Given the description of an element on the screen output the (x, y) to click on. 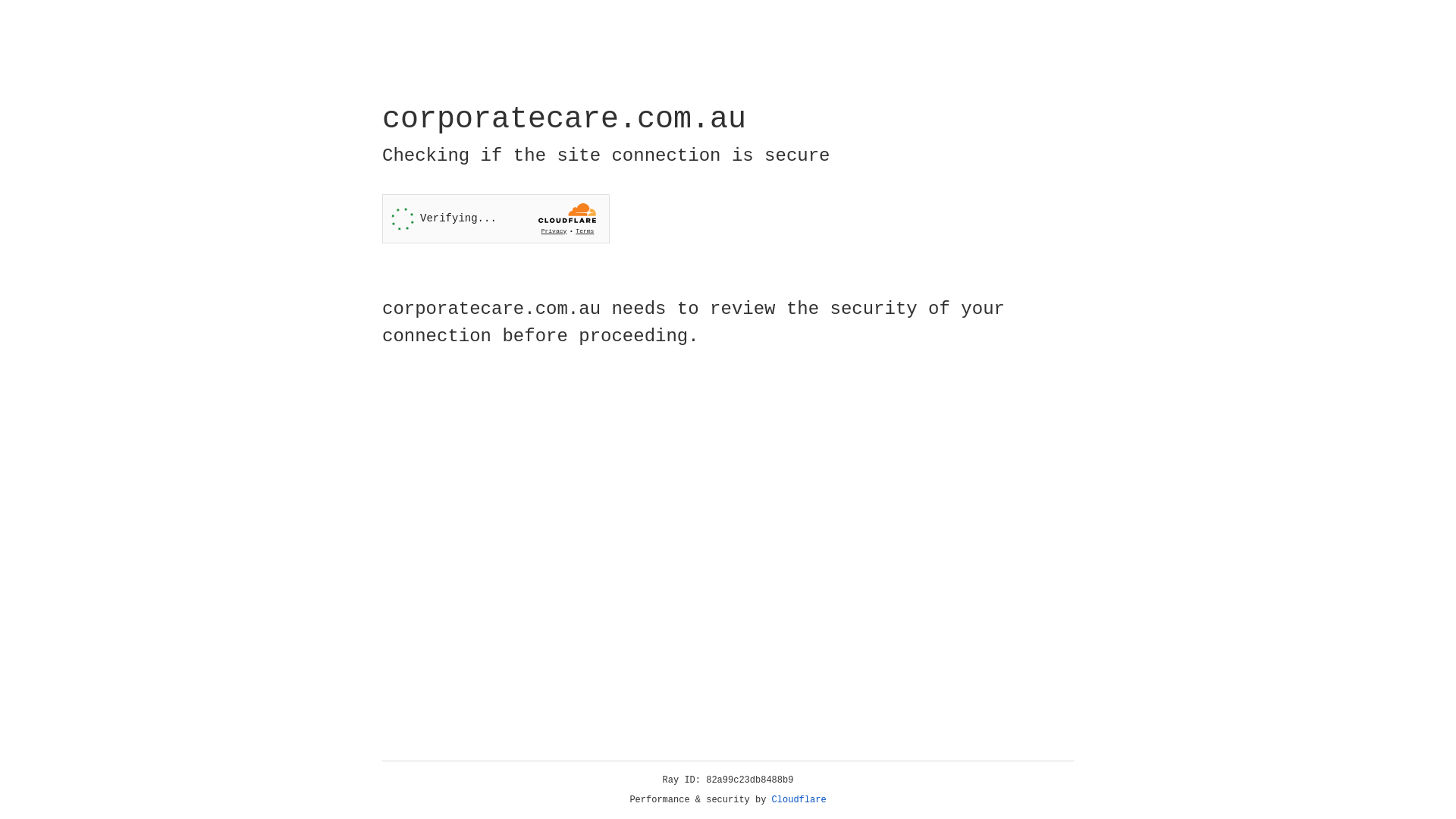
Widget containing a Cloudflare security challenge Element type: hover (495, 218)
Cloudflare Element type: text (798, 799)
